Given the description of an element on the screen output the (x, y) to click on. 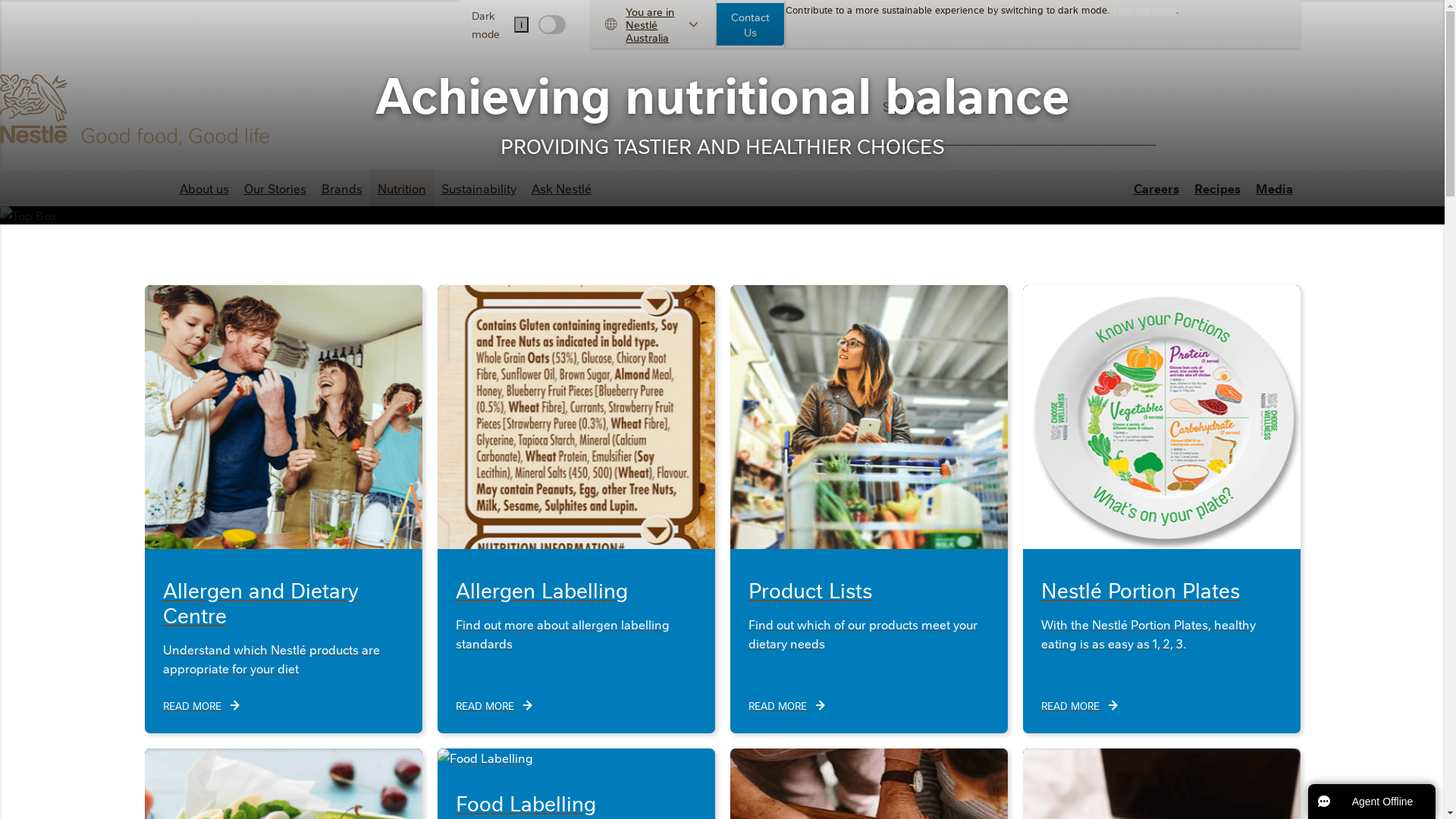
Find out more Element type: text (1144, 8)
Brands Element type: text (341, 187)
Recipes Element type: text (1216, 187)
Home Element type: text (151, 187)
Media Element type: text (1274, 187)
Search Element type: text (1140, 117)
Nutrition Element type: text (401, 187)
Skip to main content Element type: text (0, 0)
Careers Element type: text (1155, 187)
Top Box Element type: hover (28, 215)
Home Element type: hover (137, 109)
i Element type: text (521, 24)
About us Element type: text (203, 187)
Contact Us Element type: text (750, 24)
Sustainability Element type: text (478, 187)
Our Stories Element type: text (274, 187)
